Given the description of an element on the screen output the (x, y) to click on. 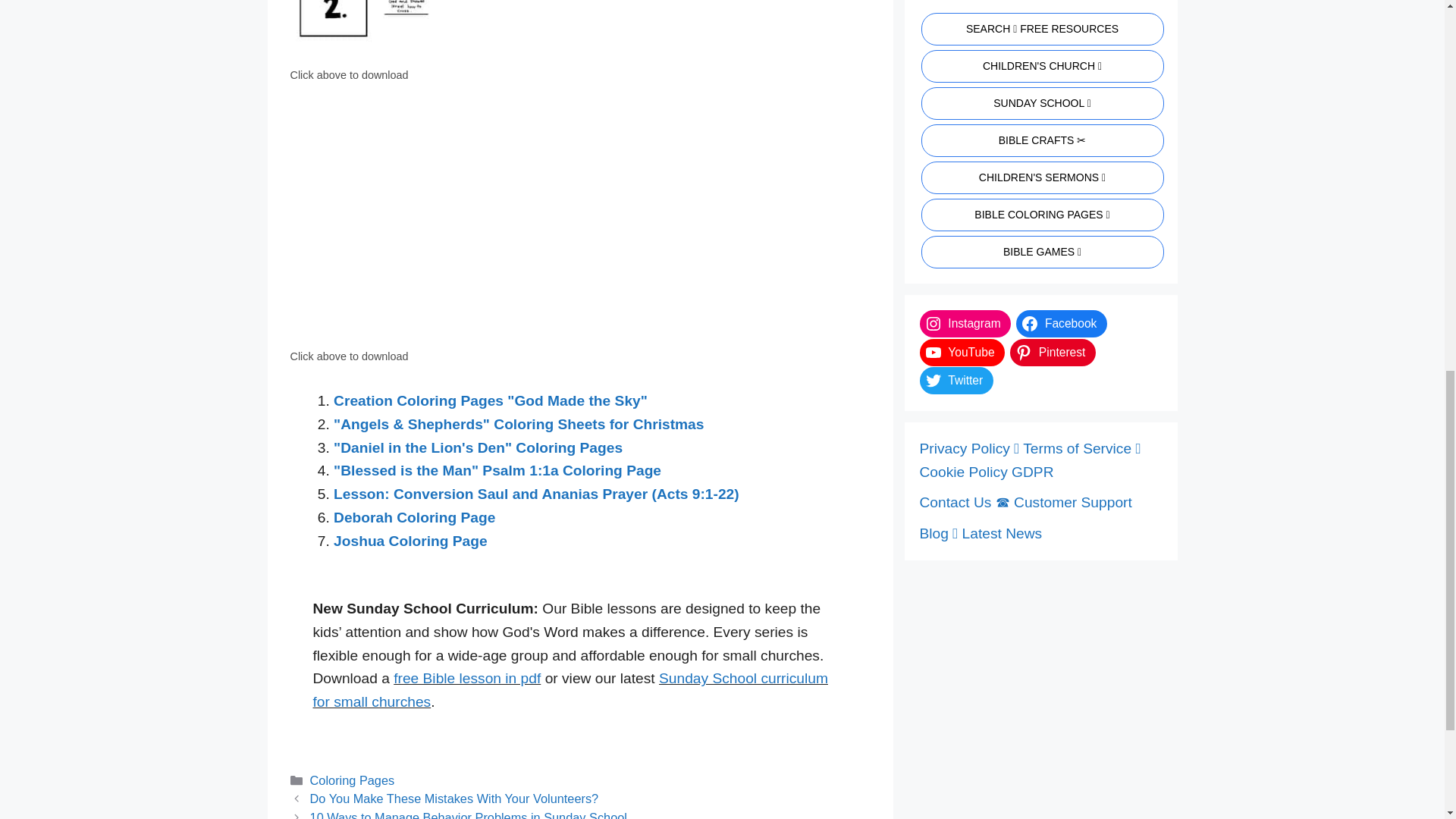
free Bible lesson in pdf (466, 678)
"Blessed is the Man" Psalm 1:1a Coloring Page (497, 470)
Creation Coloring Pages "God Made the Sky" (490, 400)
Deborah Coloring Page (414, 517)
Coloring Pages (352, 780)
Joshua Coloring Page (410, 540)
10 Ways to Manage Behavior Problems in Sunday School (468, 814)
"Daniel in the Lion's Den" Coloring Pages (478, 447)
Deborah Coloring Page (414, 517)
Joshua Coloring Page (410, 540)
Do You Make These Mistakes With Your Volunteers? (454, 798)
Creation Coloring Pages "God Made the Sky" (490, 400)
"Blessed is the Man" Psalm 1:1a Coloring Page (497, 470)
Sunday School curriculum for small churches (570, 690)
"Daniel in the Lion's Den" Coloring Pages (478, 447)
